Given the description of an element on the screen output the (x, y) to click on. 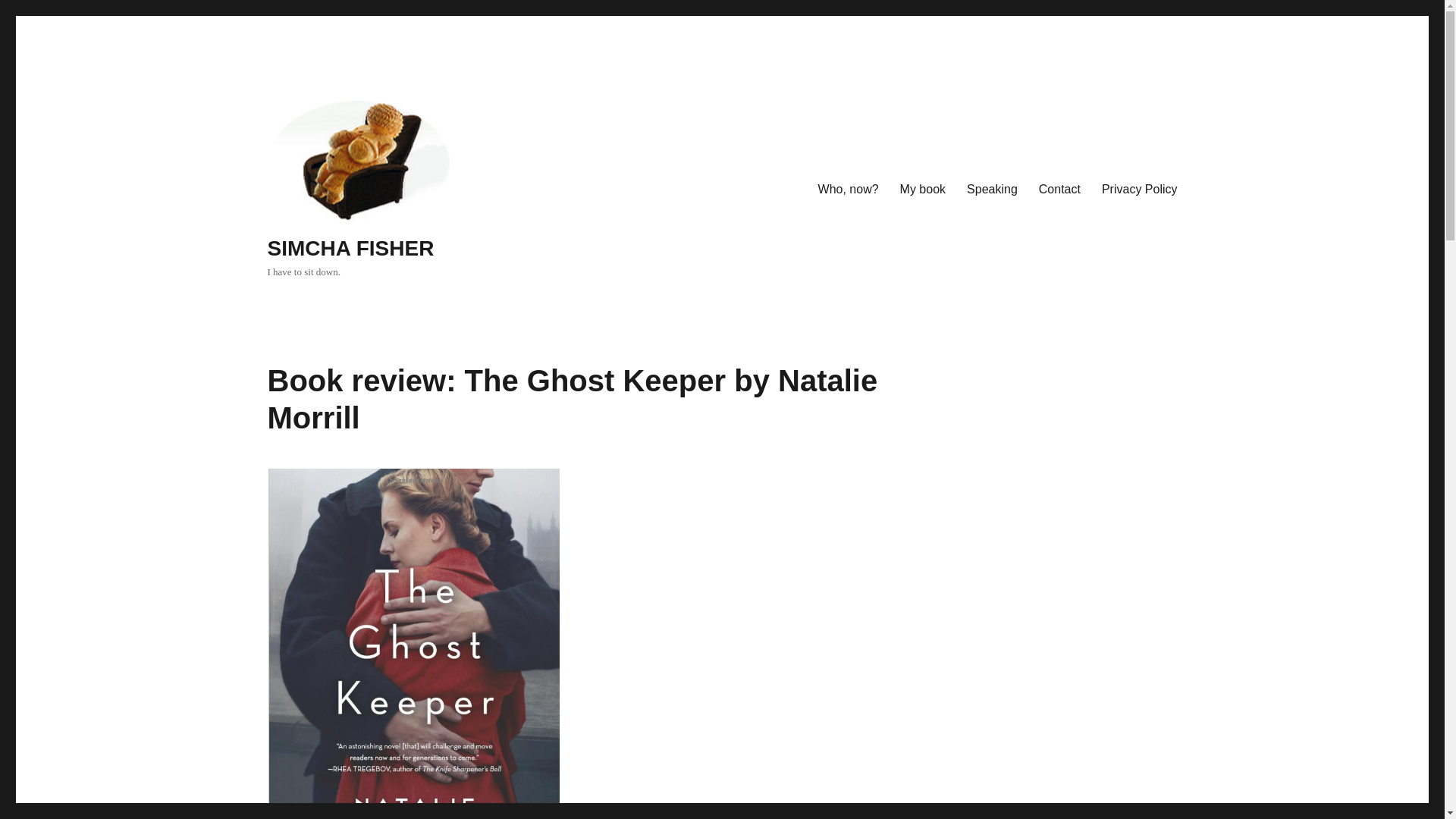
Speaking (991, 189)
SUBSCRIBE (988, 516)
Who, now? (848, 189)
SIMCHA FISHER (349, 248)
Privacy Policy (1139, 189)
My book (922, 189)
Contact (1058, 189)
